Given the description of an element on the screen output the (x, y) to click on. 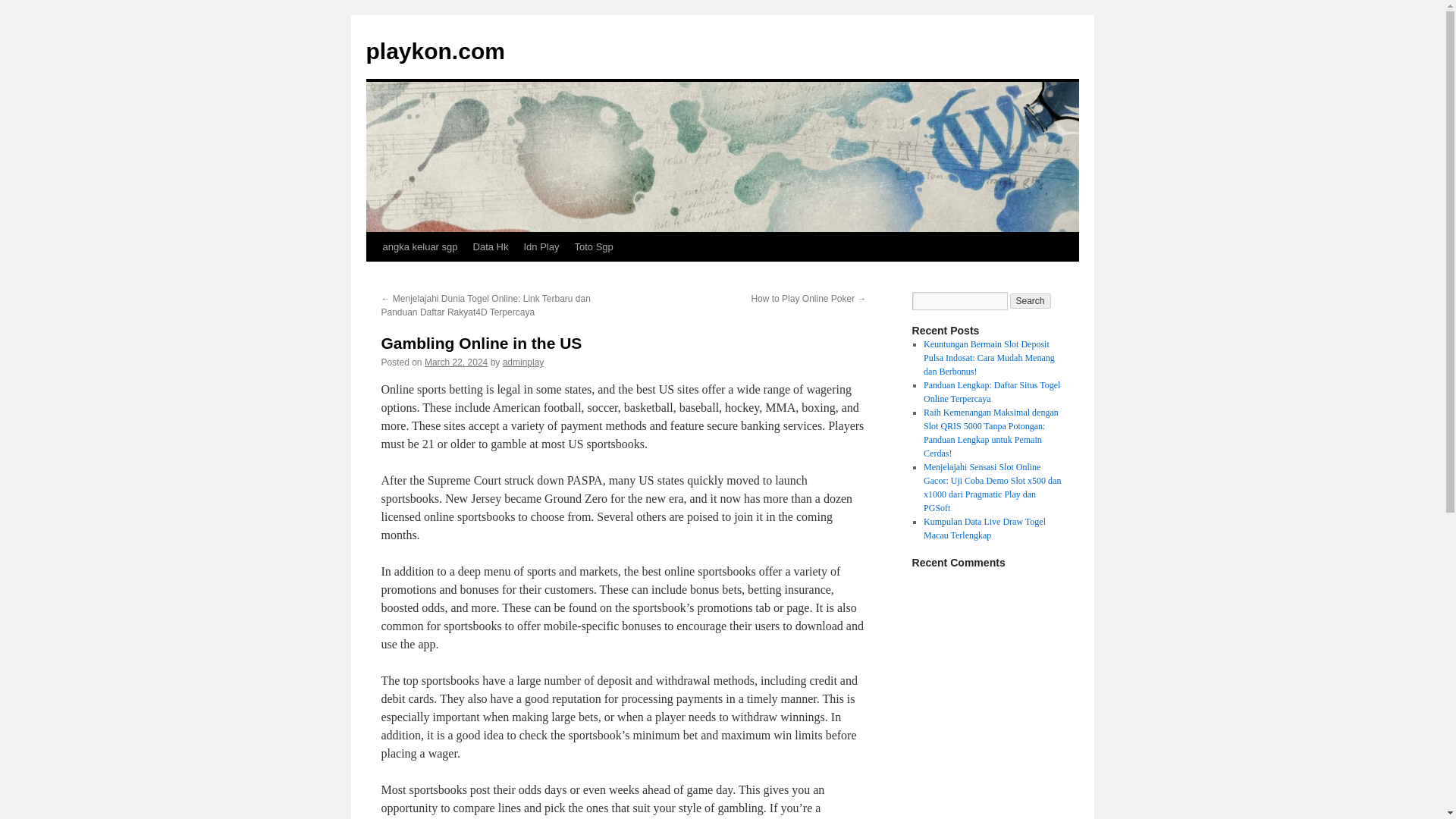
12:21 am (456, 362)
Idn Play (540, 246)
Data Hk (490, 246)
Search (1030, 300)
Search (1030, 300)
Panduan Lengkap: Daftar Situs Togel Online Terpercaya (991, 392)
Kumpulan Data Live Draw Togel Macau Terlengkap (984, 528)
playkon.com (434, 50)
angka keluar sgp (419, 246)
